Given the description of an element on the screen output the (x, y) to click on. 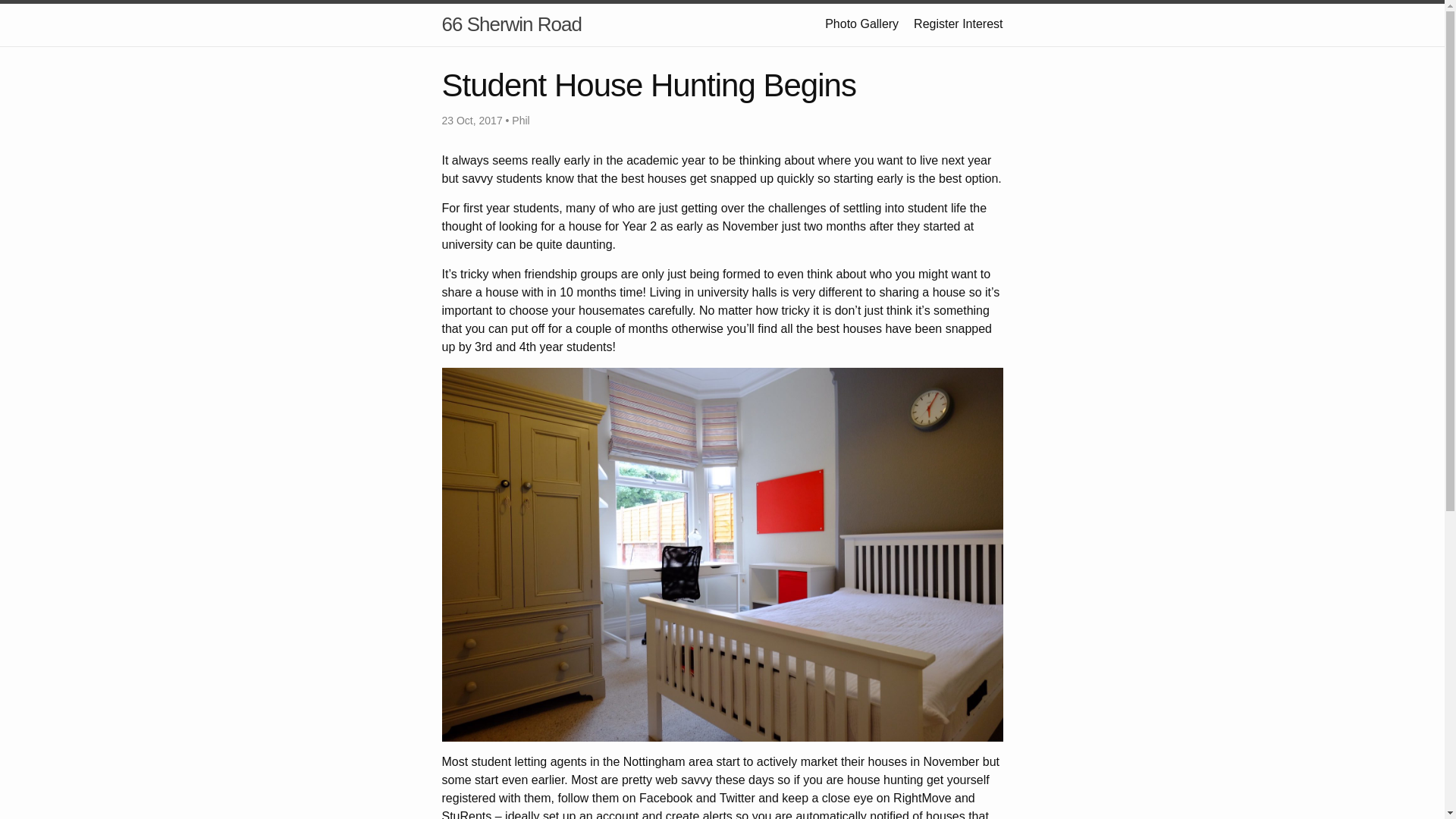
66 Sherwin Road (510, 24)
Register Interest (958, 23)
Photo Gallery (861, 23)
